Given the description of an element on the screen output the (x, y) to click on. 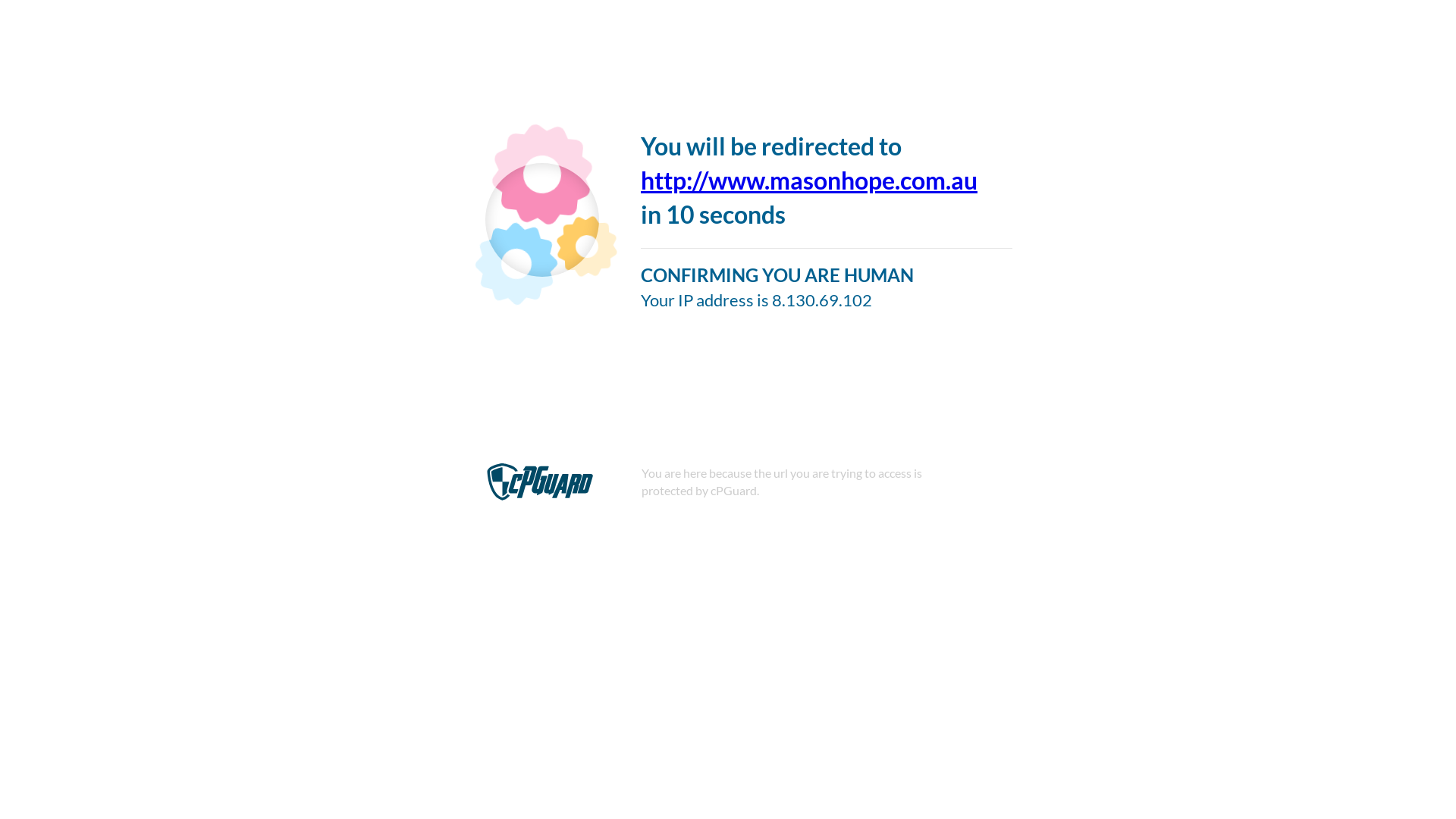
http://www.masonhope.com.au Element type: text (808, 179)
